Given the description of an element on the screen output the (x, y) to click on. 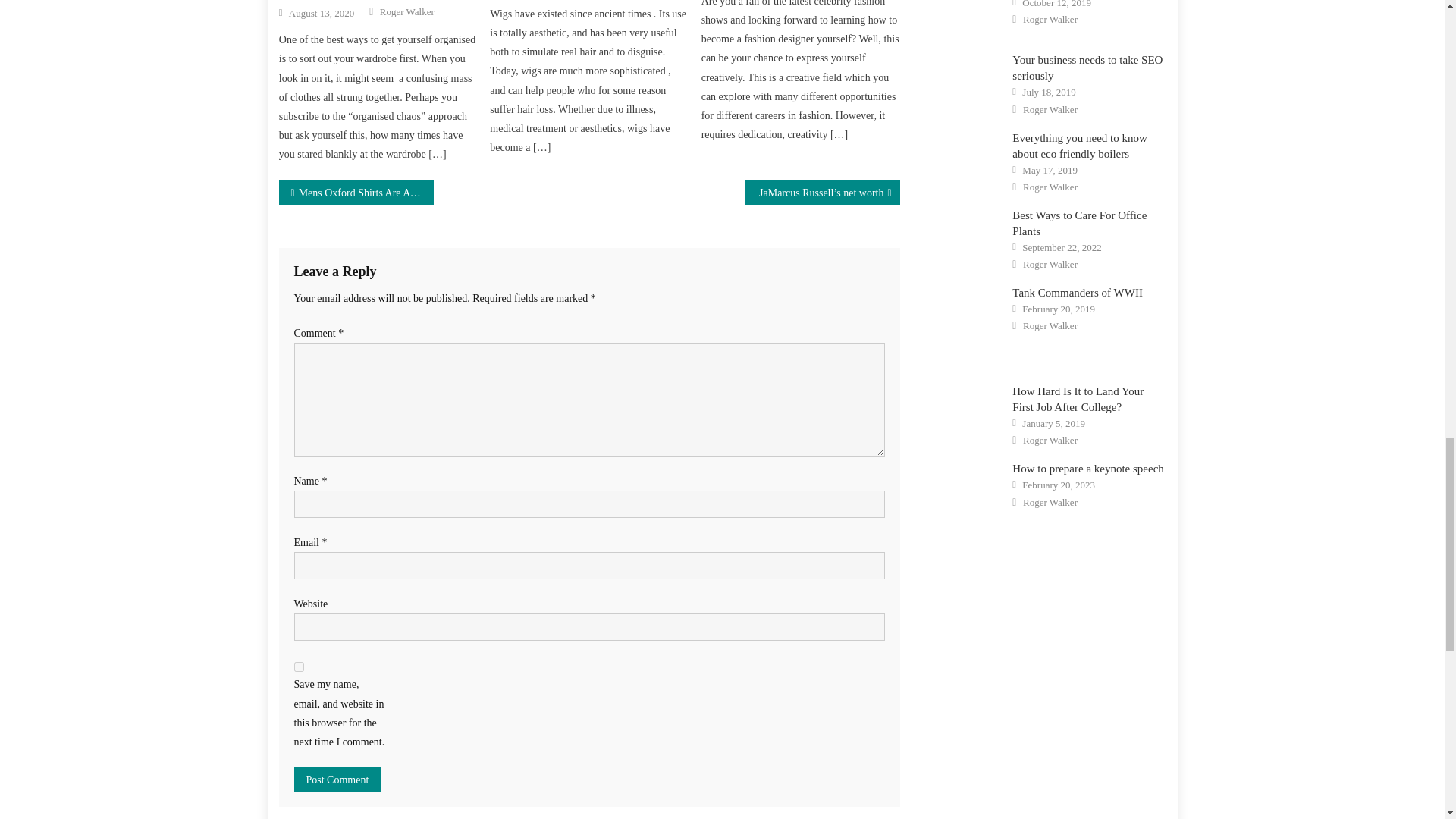
Everything you need to know about eco friendly boilers (964, 155)
yes (299, 666)
Post Comment (337, 778)
Help when you need to sue (964, 15)
Your business needs to take SEO seriously (964, 77)
